Given the description of an element on the screen output the (x, y) to click on. 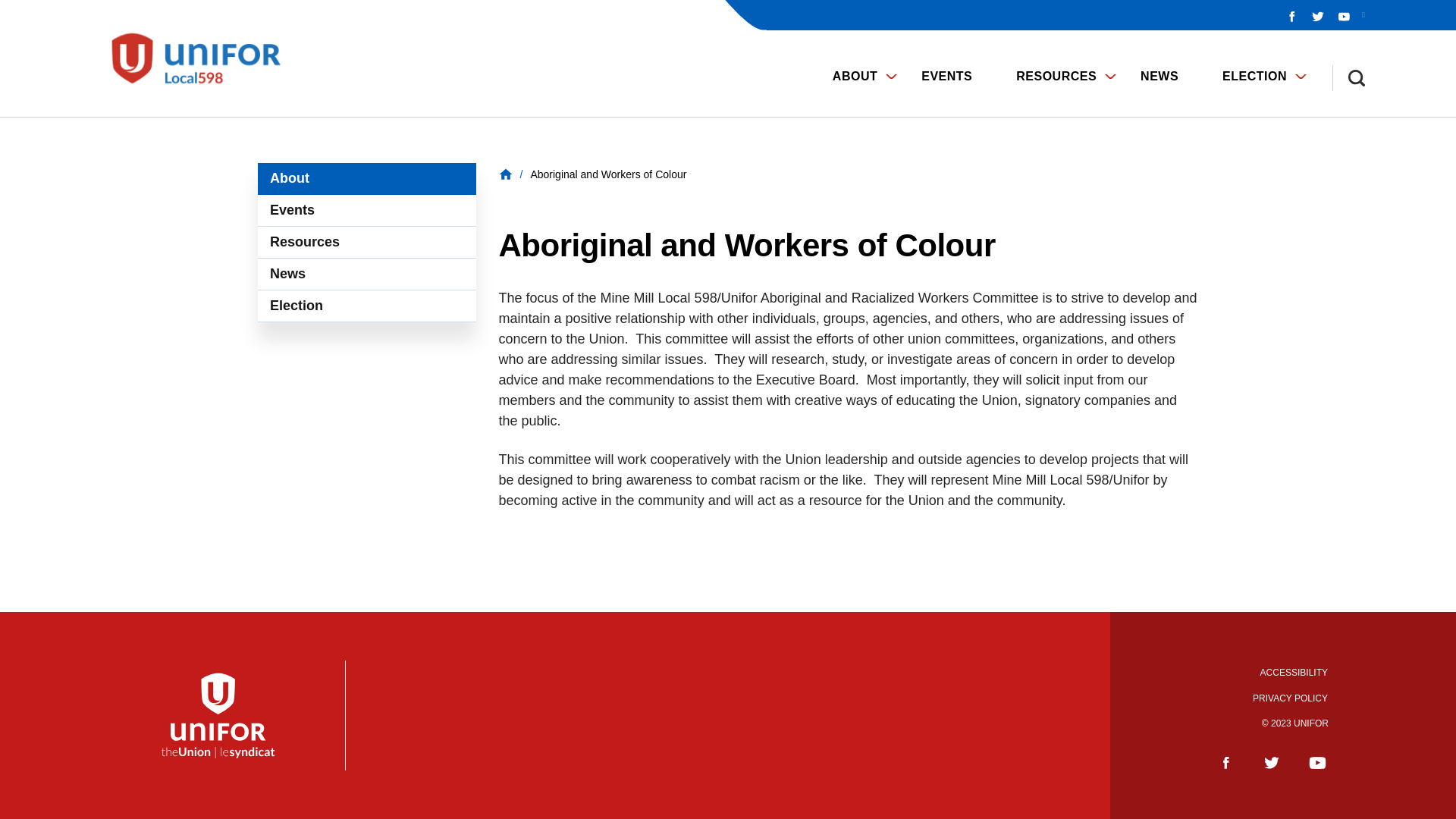
Skip to main content (8, 9)
Home (204, 58)
Home Icon Created with Sketch. (505, 173)
